Given the description of an element on the screen output the (x, y) to click on. 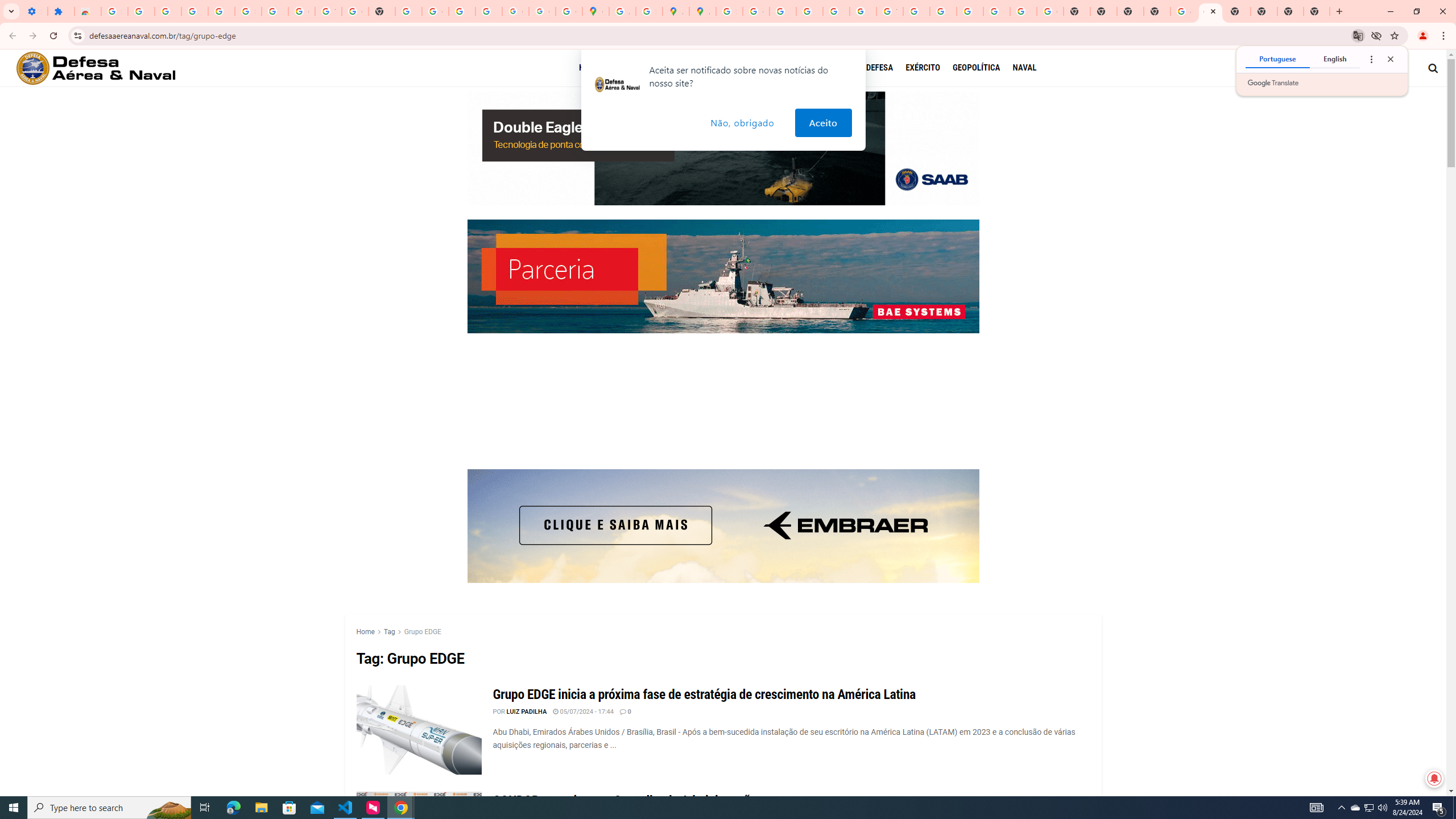
New Tab (1316, 11)
Delete photos & videos - Computer - Google Photos Help (167, 11)
DEFESA (879, 67)
NAVAL (1023, 67)
Sign in - Google Accounts (248, 11)
